Given the description of an element on the screen output the (x, y) to click on. 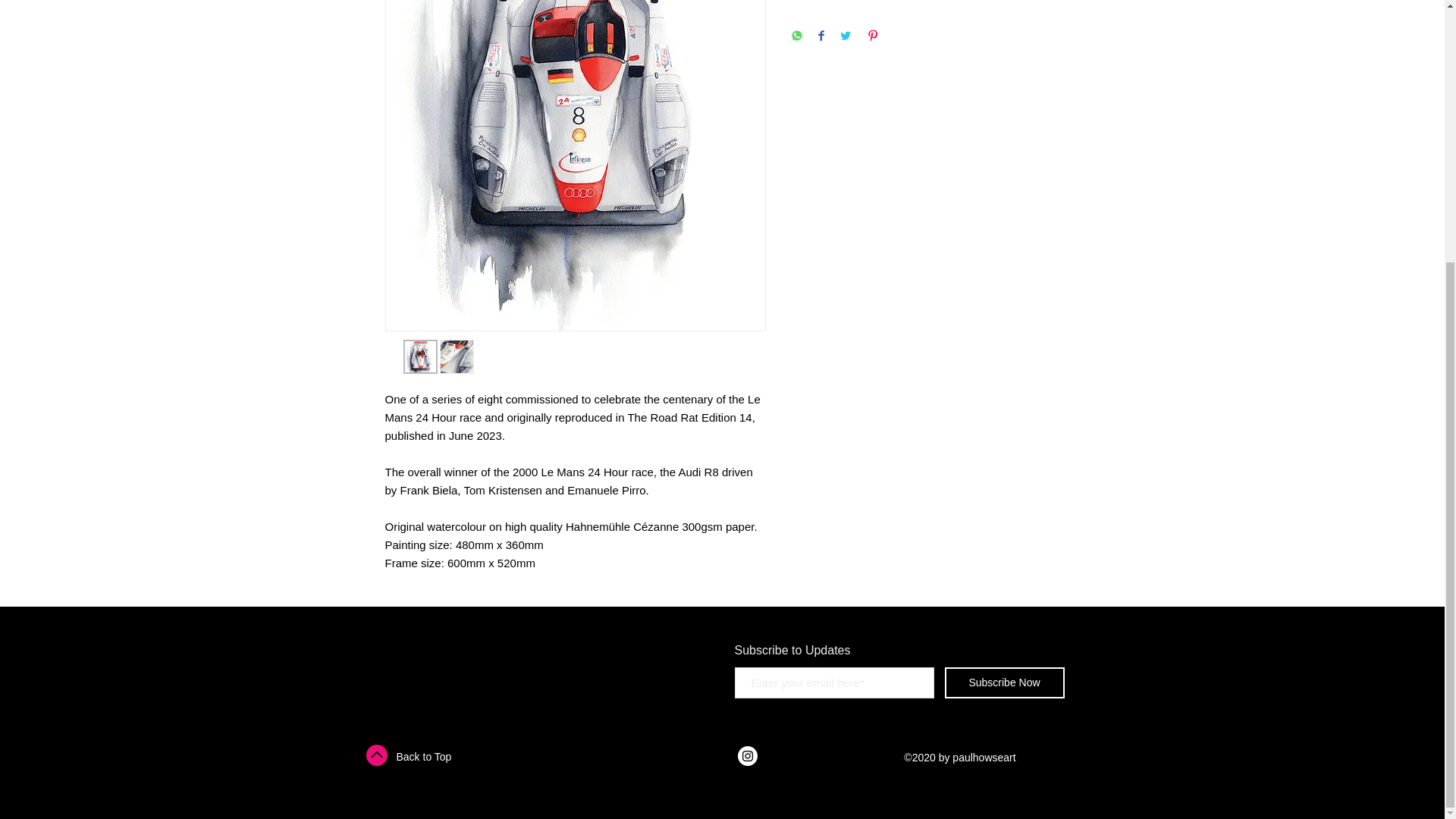
Back to Top (423, 756)
Subscribe Now (1004, 682)
